Given the description of an element on the screen output the (x, y) to click on. 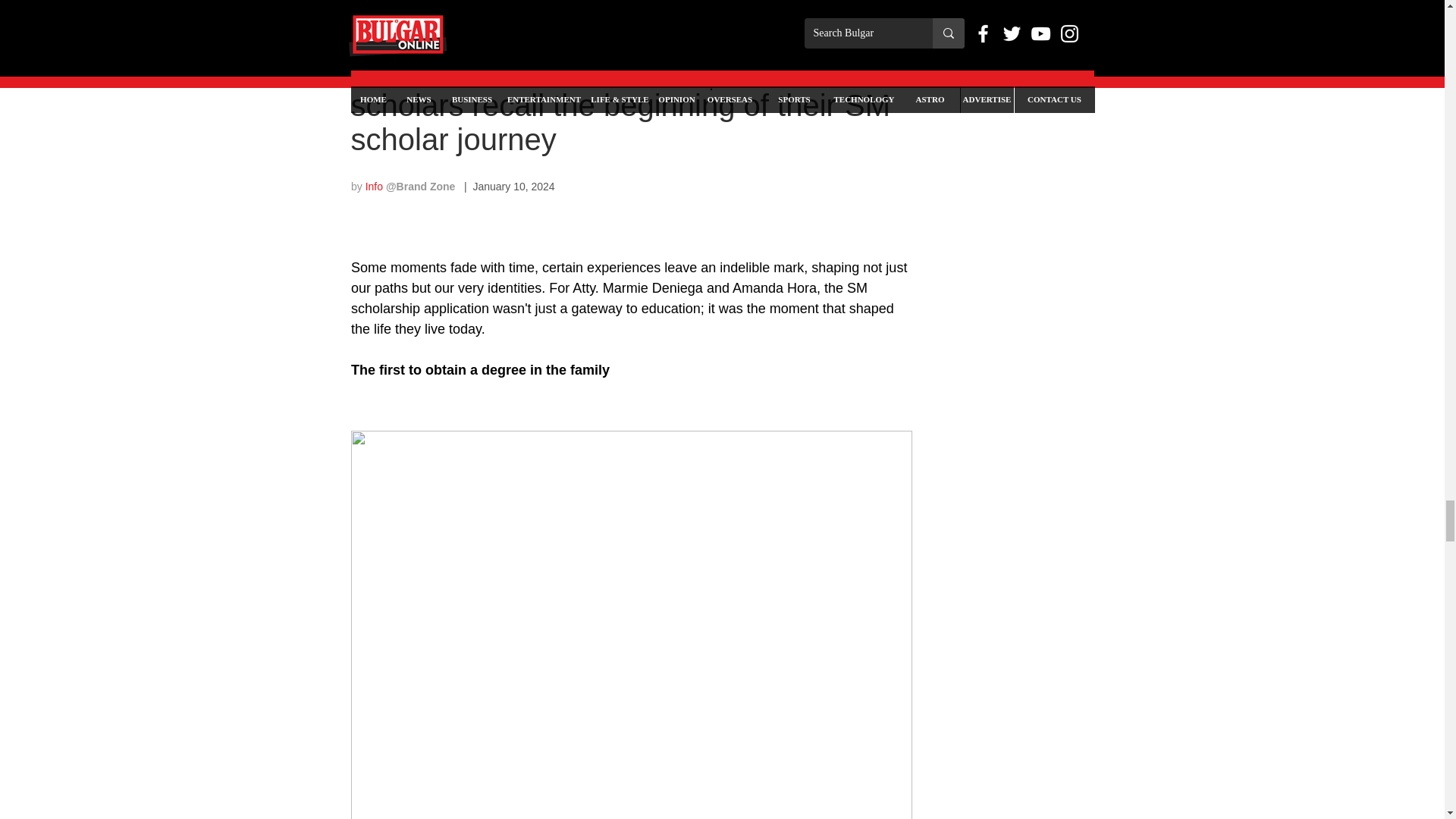
BULGAR (372, 24)
Jan 10 (423, 24)
